Given the description of an element on the screen output the (x, y) to click on. 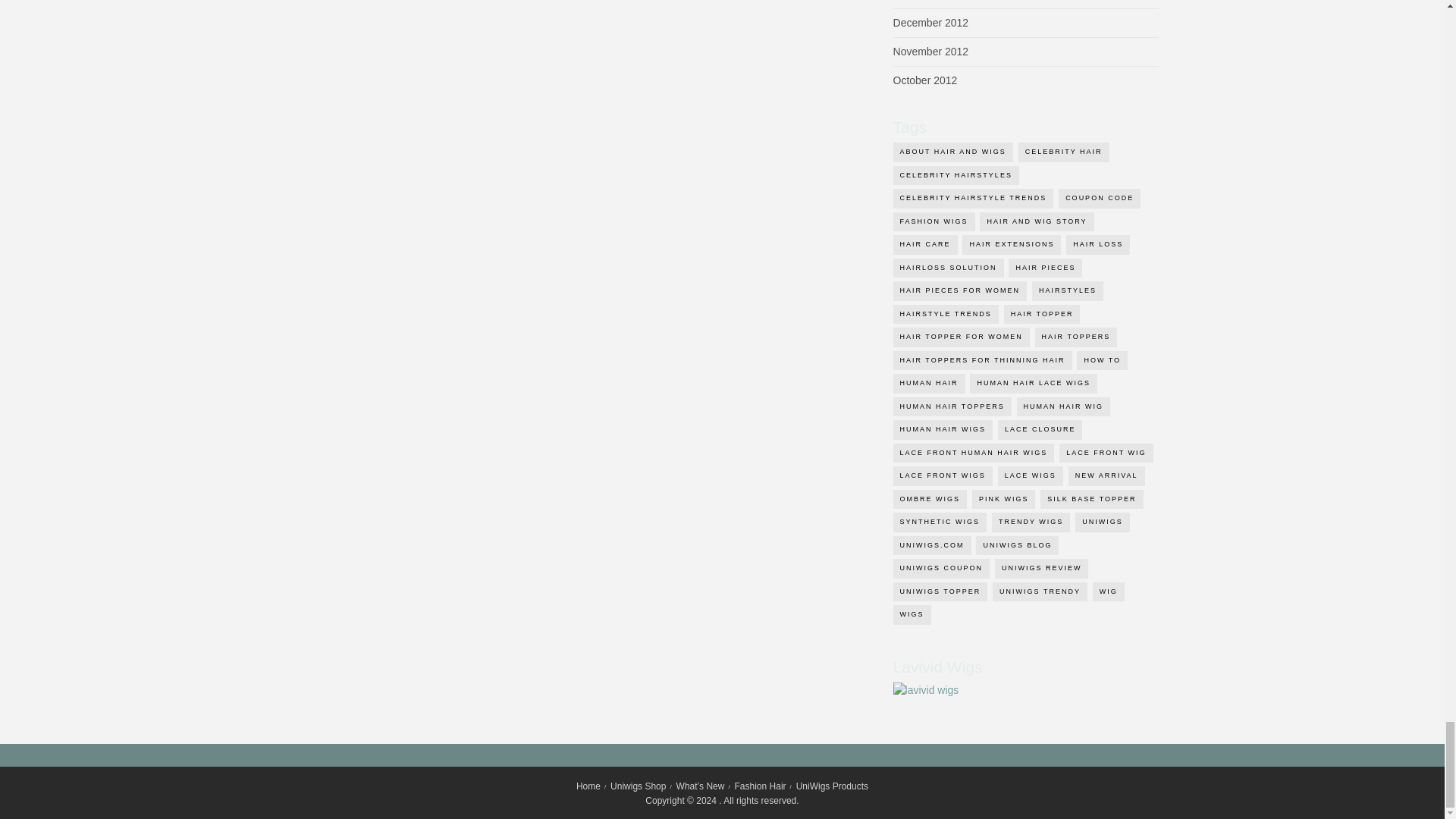
Lavivid Wigs (926, 689)
